Given the description of an element on the screen output the (x, y) to click on. 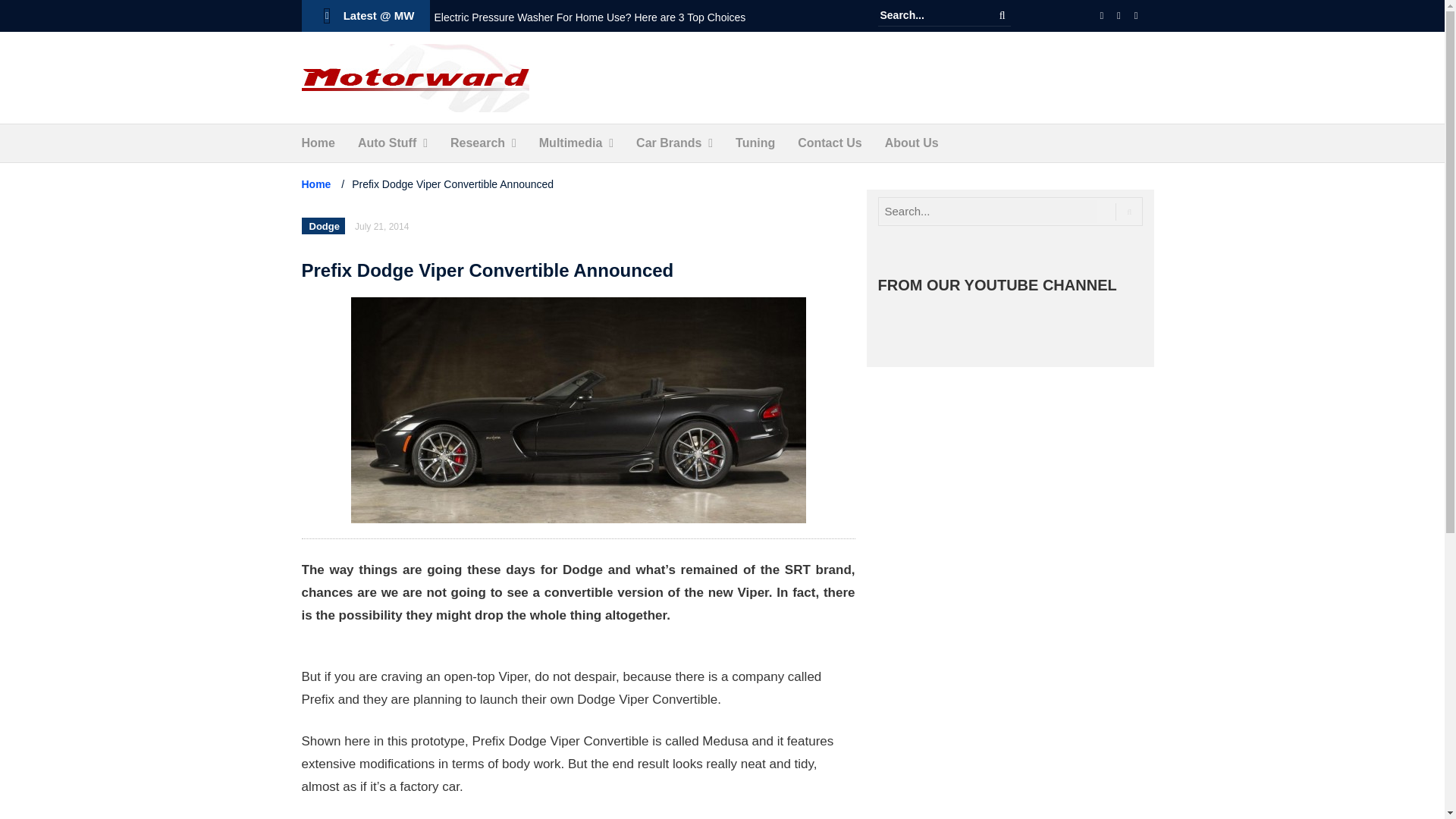
Home (317, 143)
Research (477, 143)
Car Brands (668, 143)
Auto Stuff (387, 143)
Multimedia (570, 143)
Search   (1002, 14)
Prefix Dodge Viper Convertible 600x298 (577, 410)
